Given the description of an element on the screen output the (x, y) to click on. 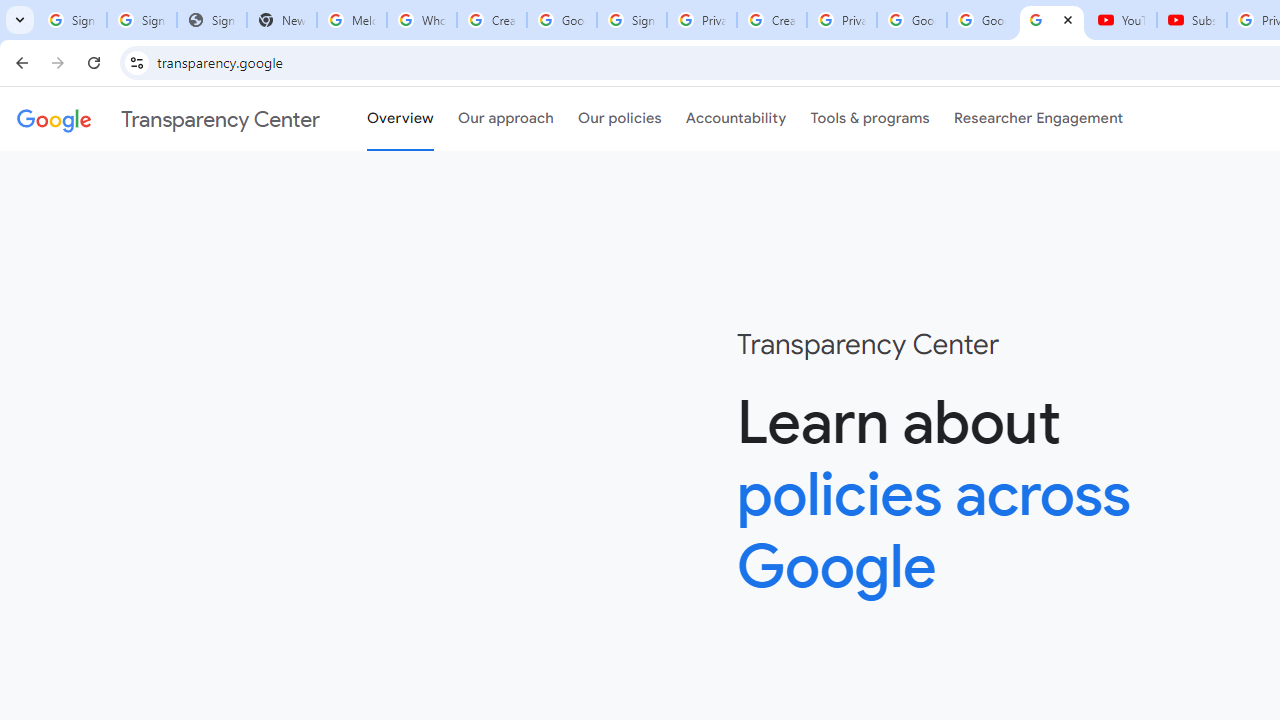
Create your Google Account (772, 20)
New Tab (282, 20)
Researcher Engagement (1038, 119)
Tools & programs (869, 119)
Transparency Center (167, 119)
Our approach (506, 119)
Subscriptions - YouTube (1192, 20)
Create your Google Account (492, 20)
